Given the description of an element on the screen output the (x, y) to click on. 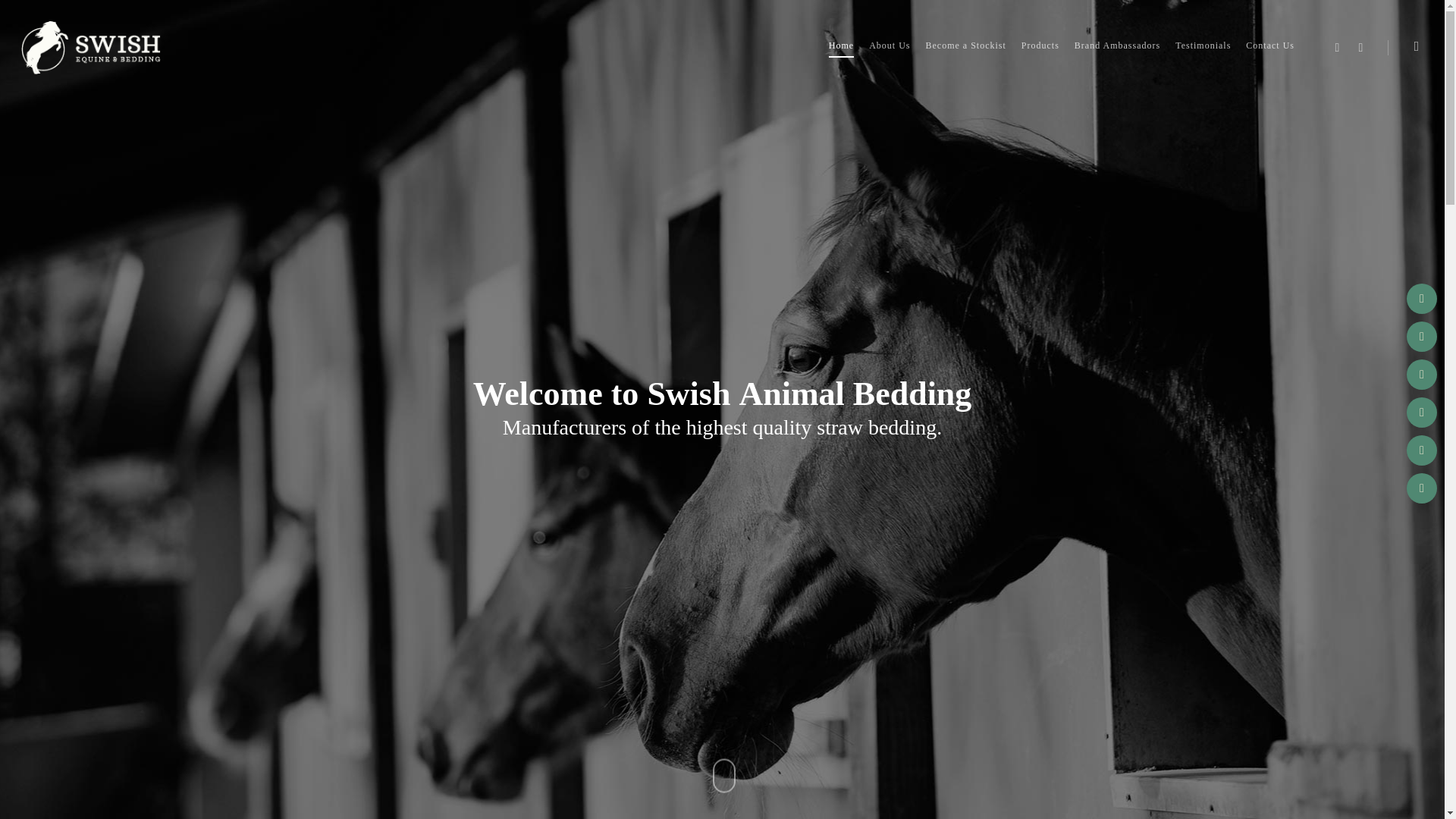
Testimonials (454, 619)
About Us (454, 516)
Privacy Policy (454, 697)
Brand Ambassadors (454, 594)
CONTACT US (871, 355)
Become a Stockist (454, 542)
Products (454, 568)
Cookie Policy (454, 671)
Contact Us (454, 646)
NiDesign (429, 795)
